Given the description of an element on the screen output the (x, y) to click on. 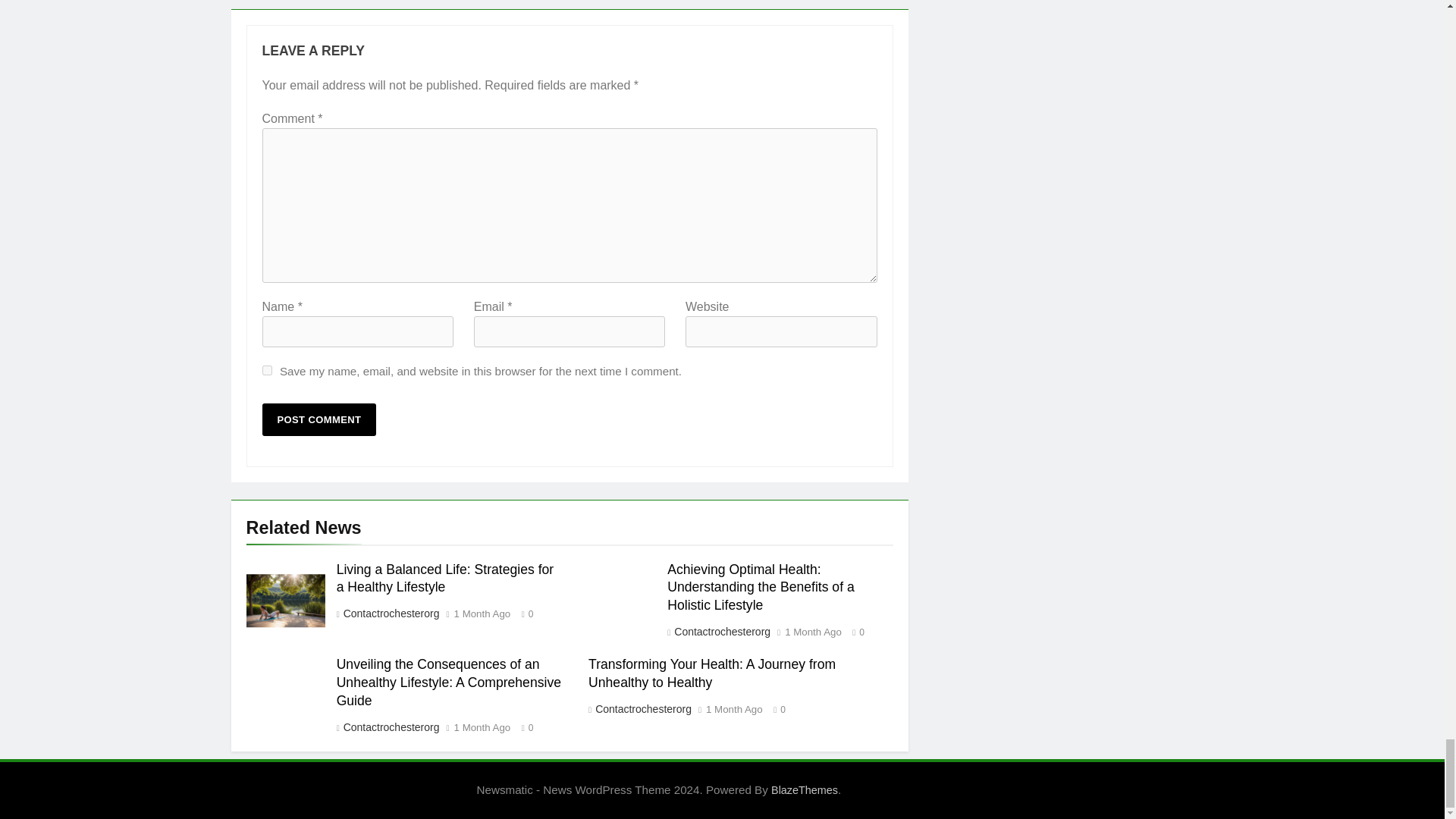
yes (267, 370)
Post Comment (319, 419)
